Given the description of an element on the screen output the (x, y) to click on. 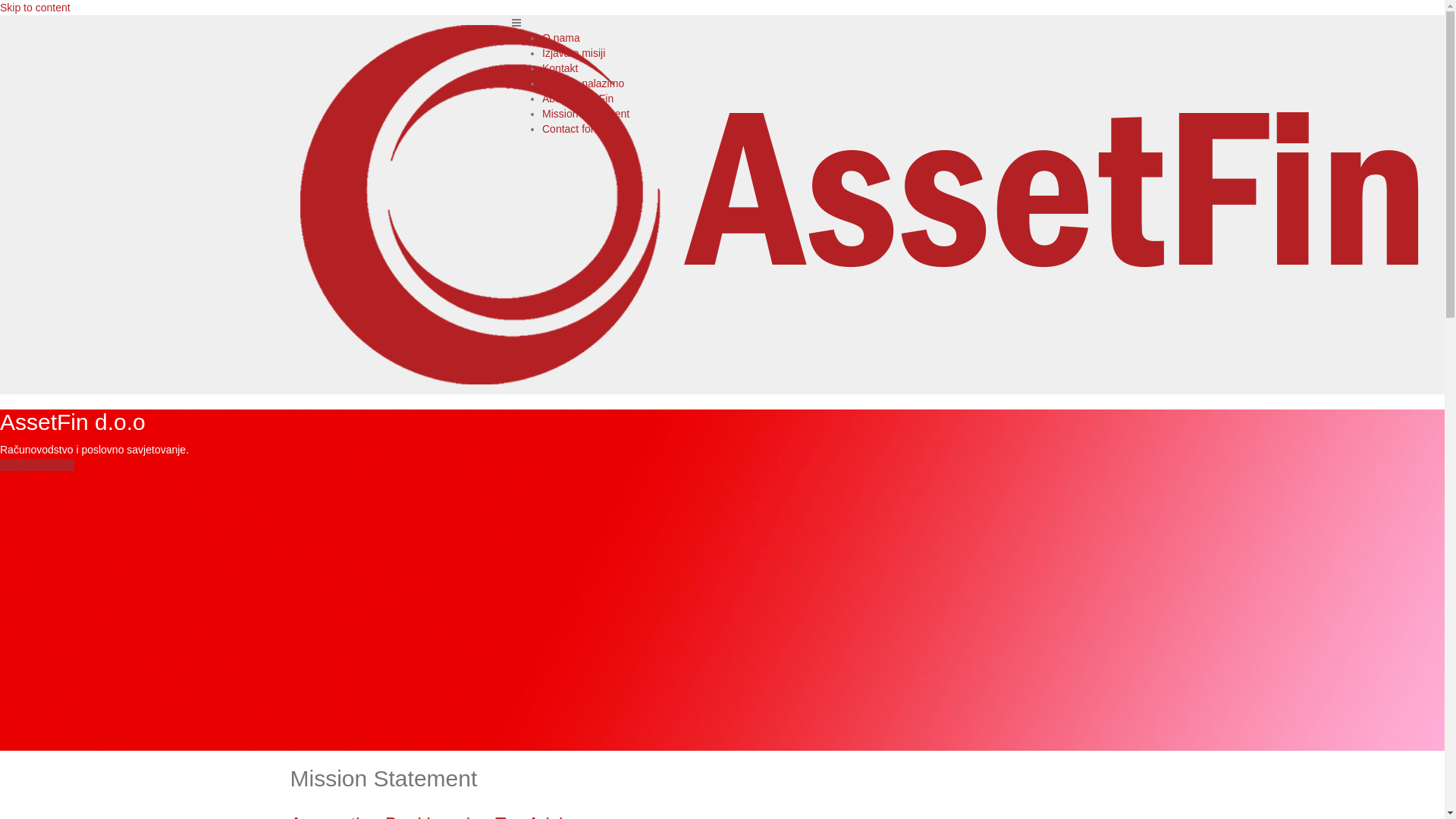
Gdje se nalazimo Element type: text (583, 83)
Skip to content Element type: text (35, 7)
Izjava o misiji Element type: text (573, 53)
Kontakt Element type: text (559, 68)
O nama Element type: text (561, 37)
Contact form Element type: text (572, 128)
Mission Statement Element type: text (585, 113)
AssetFin d.o.o Sarajevo Element type: hover (858, 203)
Prema uspjehu! Element type: text (37, 464)
About AssetFin Element type: text (577, 98)
